Given the description of an element on the screen output the (x, y) to click on. 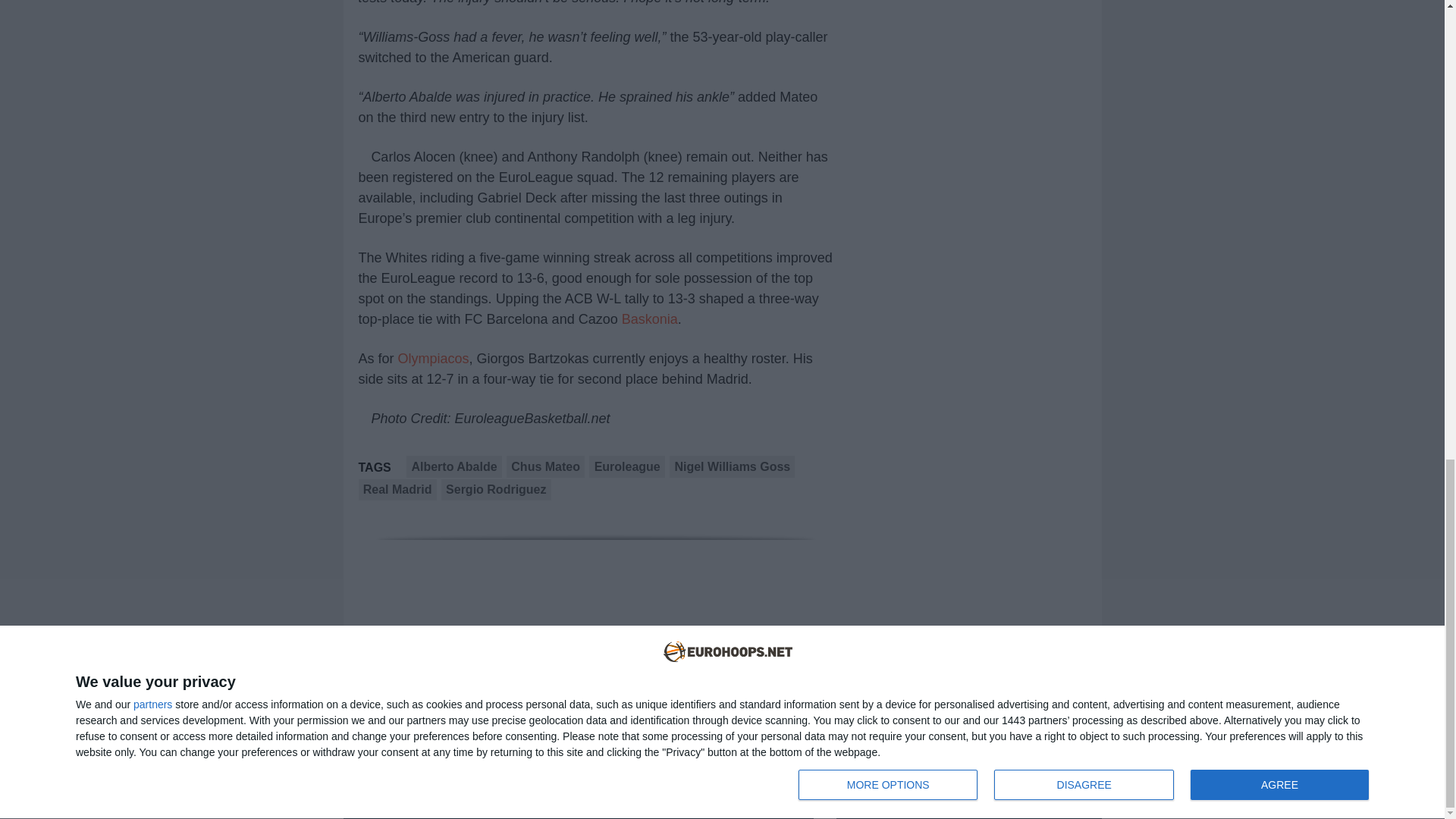
Olympiacos (432, 358)
Baskonia (649, 319)
